Given the description of an element on the screen output the (x, y) to click on. 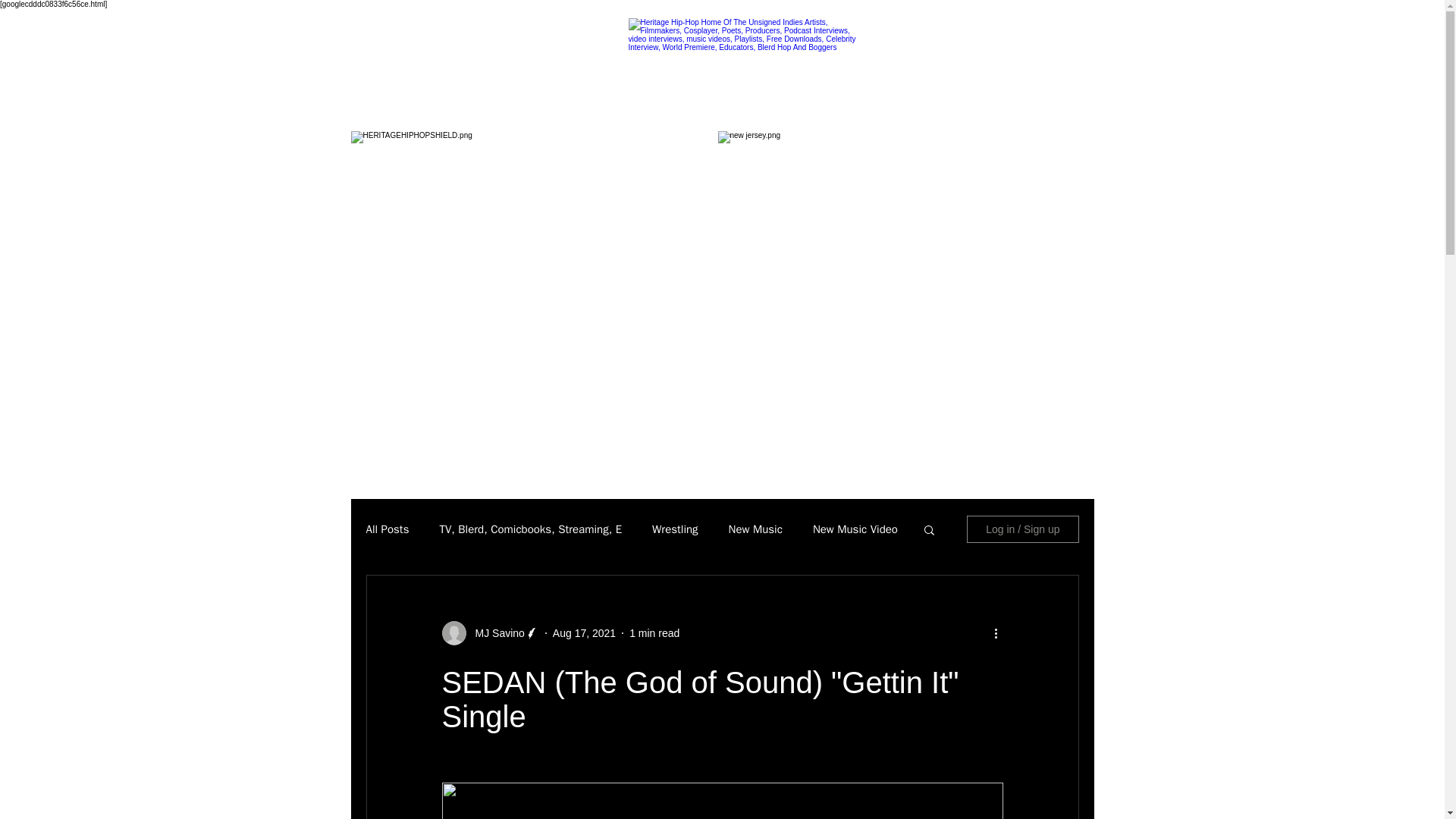
TRUTH BEHIND BARS (784, 111)
New Music (756, 528)
MJ Savino (494, 632)
MJ Savino (489, 632)
HOME (403, 111)
All Posts (387, 528)
TV, Blerd, Comicbooks, Streaming, E (530, 528)
AWARDS (470, 111)
MEMBERS ONLY (649, 111)
Wrestling (675, 528)
